Given the description of an element on the screen output the (x, y) to click on. 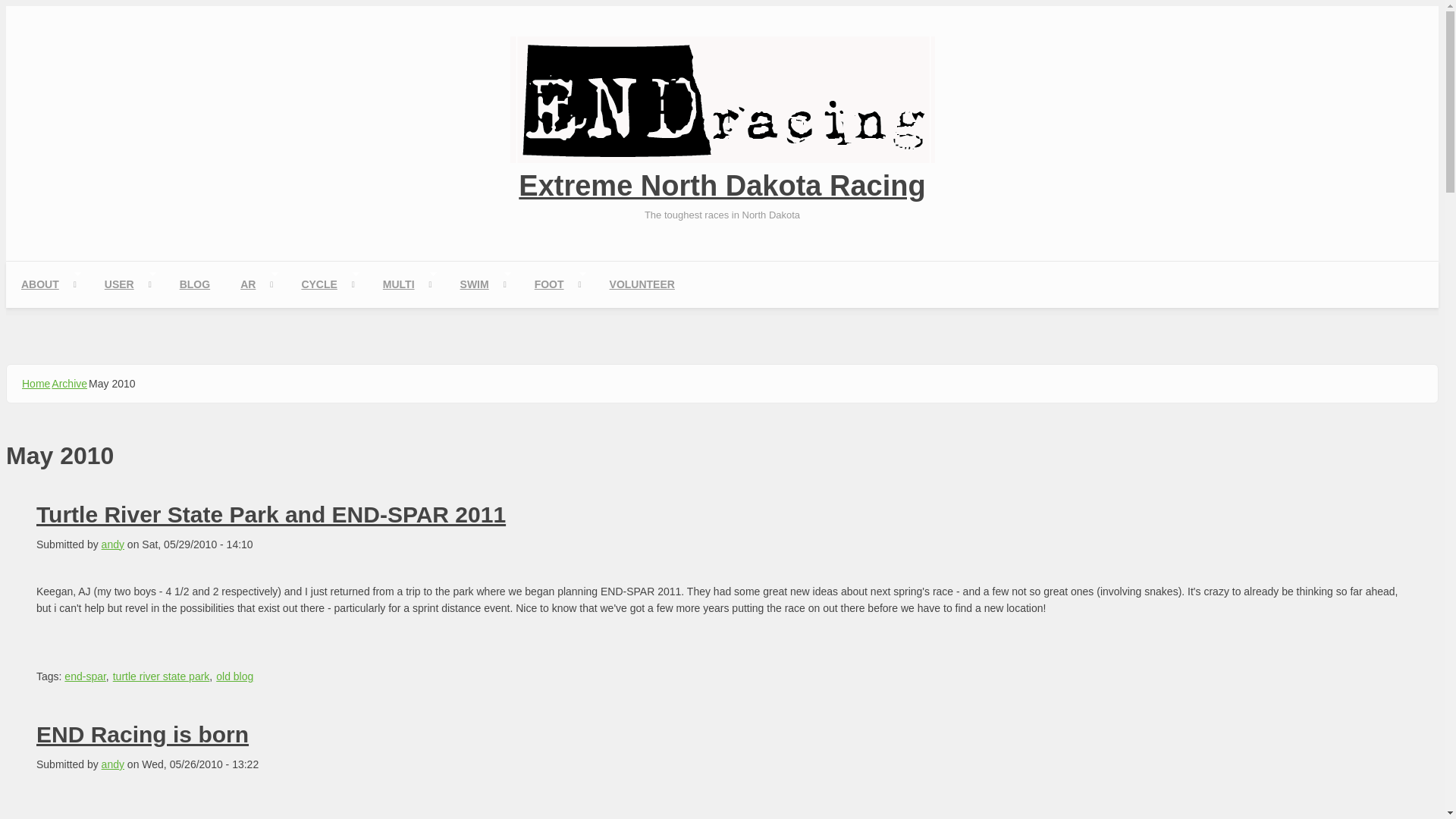
Home (721, 159)
Bicycle Racing (325, 284)
Adventure Races (255, 284)
BLOG (194, 284)
User profile (126, 284)
